Given the description of an element on the screen output the (x, y) to click on. 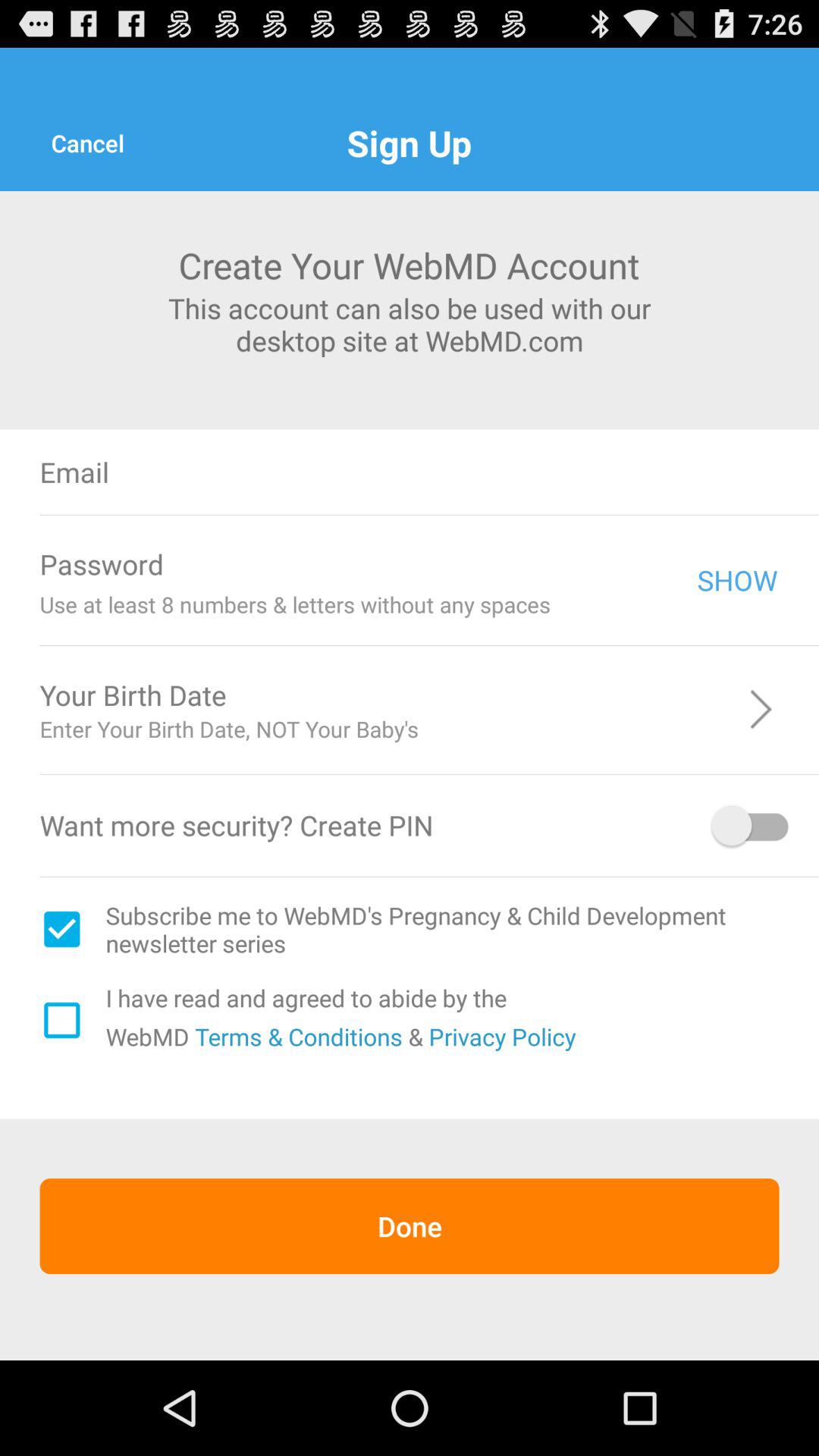
click icon above the enter your birth (528, 694)
